Given the description of an element on the screen output the (x, y) to click on. 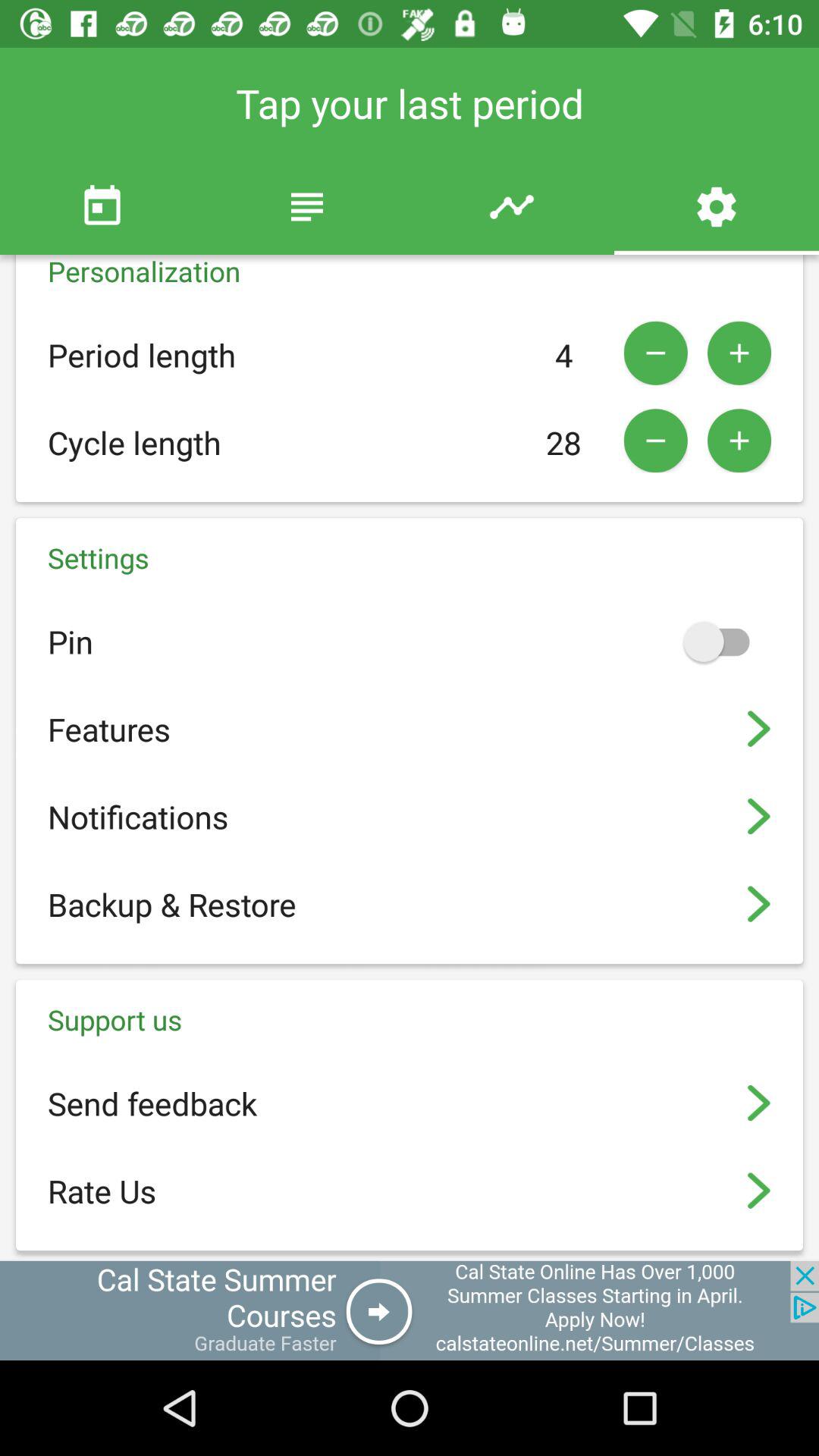
an advertisement (409, 1310)
